Given the description of an element on the screen output the (x, y) to click on. 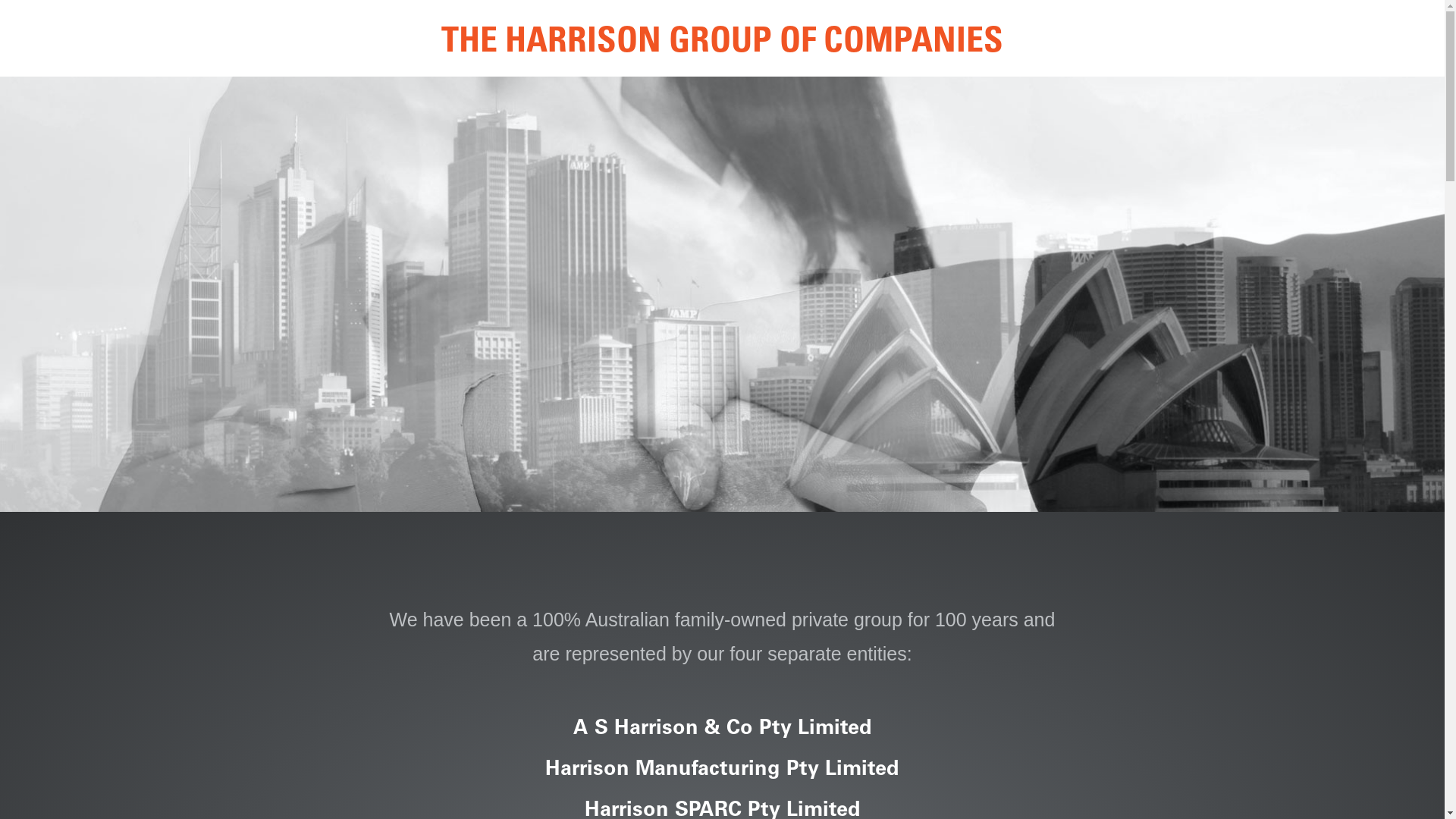
THE HARRISON GROUP OF COMPANIES Element type: text (722, 43)
